Given the description of an element on the screen output the (x, y) to click on. 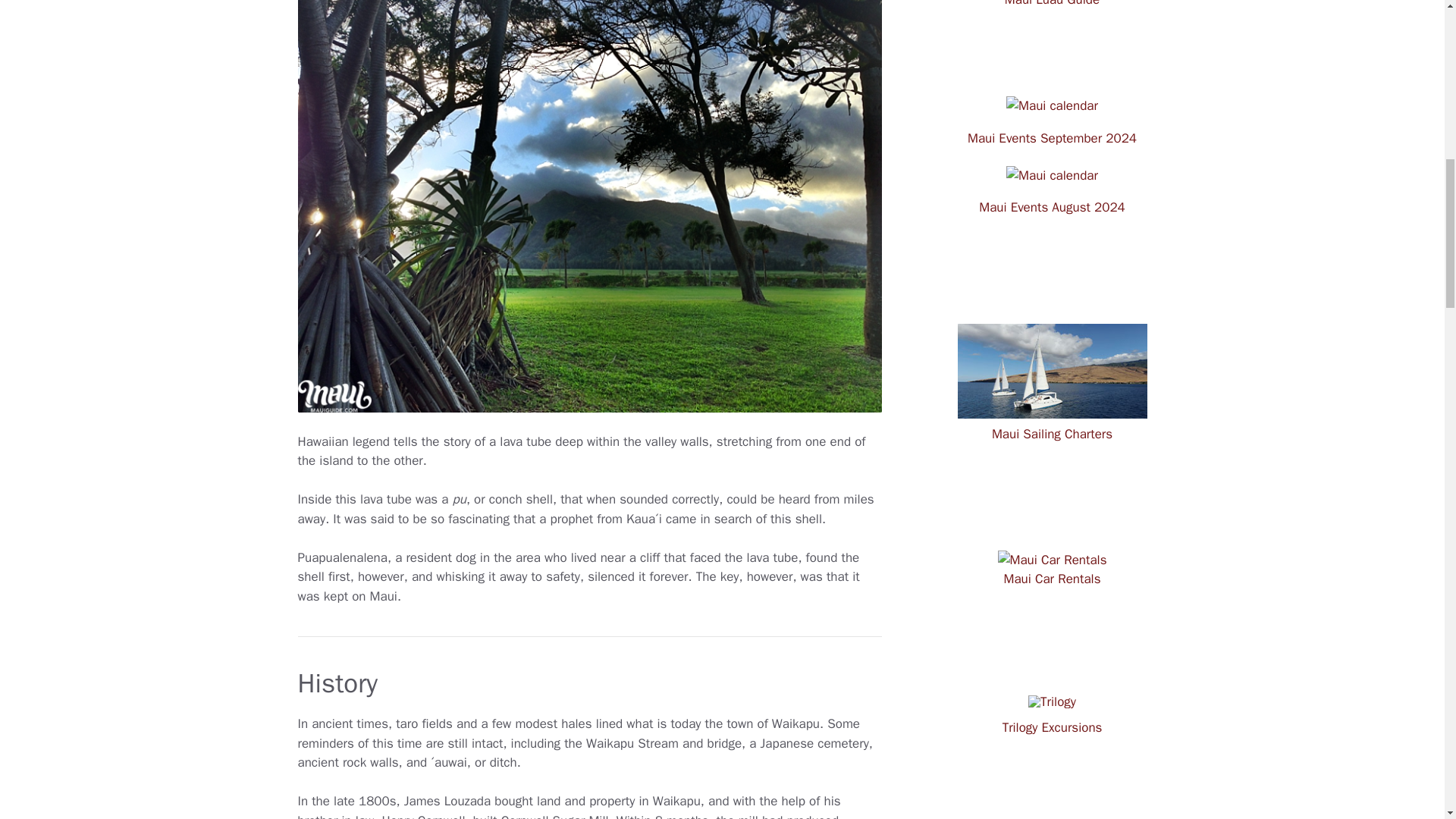
Maui Luau Guide (1051, 10)
Maui Sailing Charters (1051, 430)
Maui Events August 2024 (1051, 207)
Maui Events September 2024 (1052, 138)
